Given the description of an element on the screen output the (x, y) to click on. 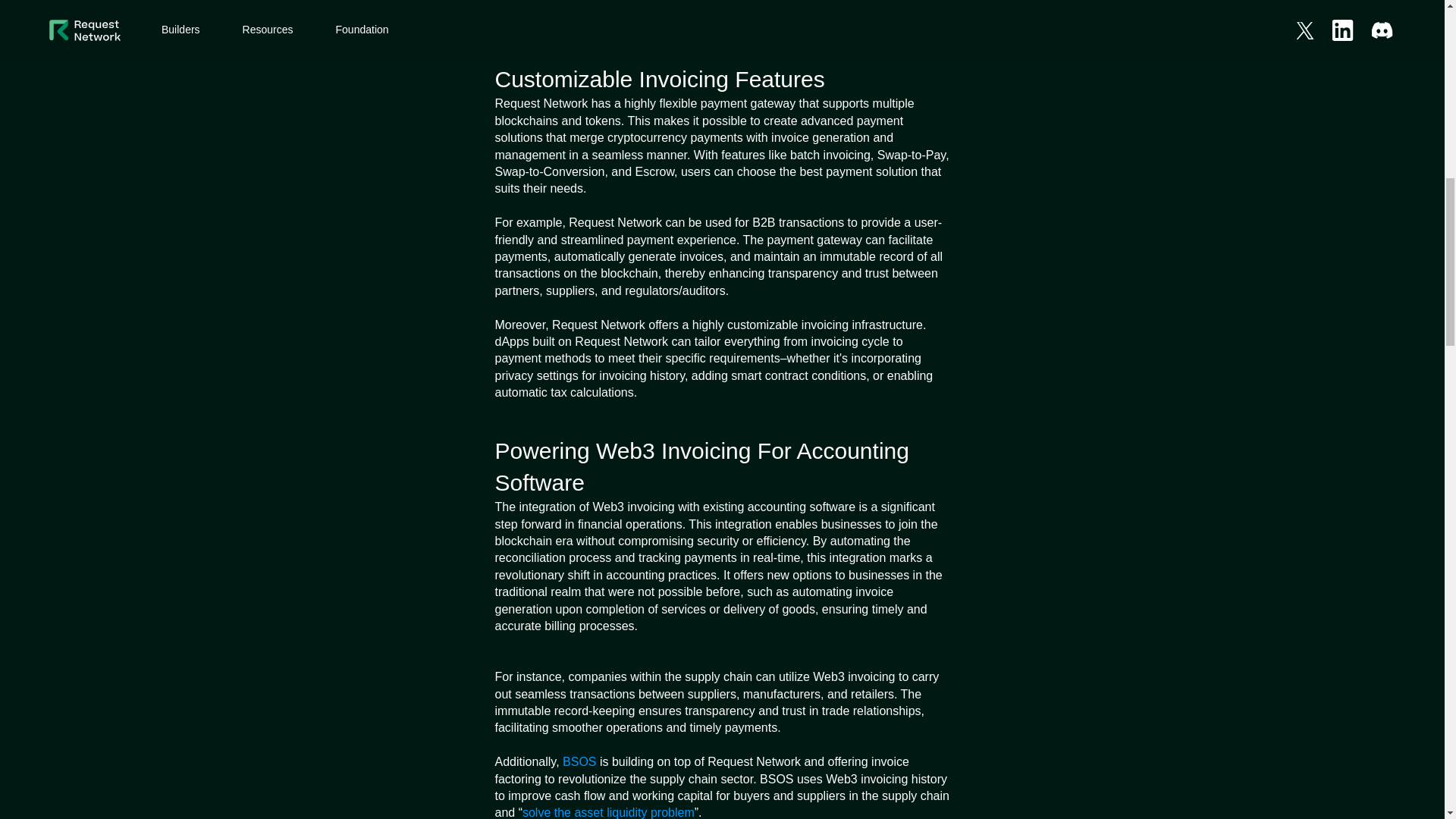
BSOS (578, 761)
solve the asset liquidity problem (608, 812)
